Given the description of an element on the screen output the (x, y) to click on. 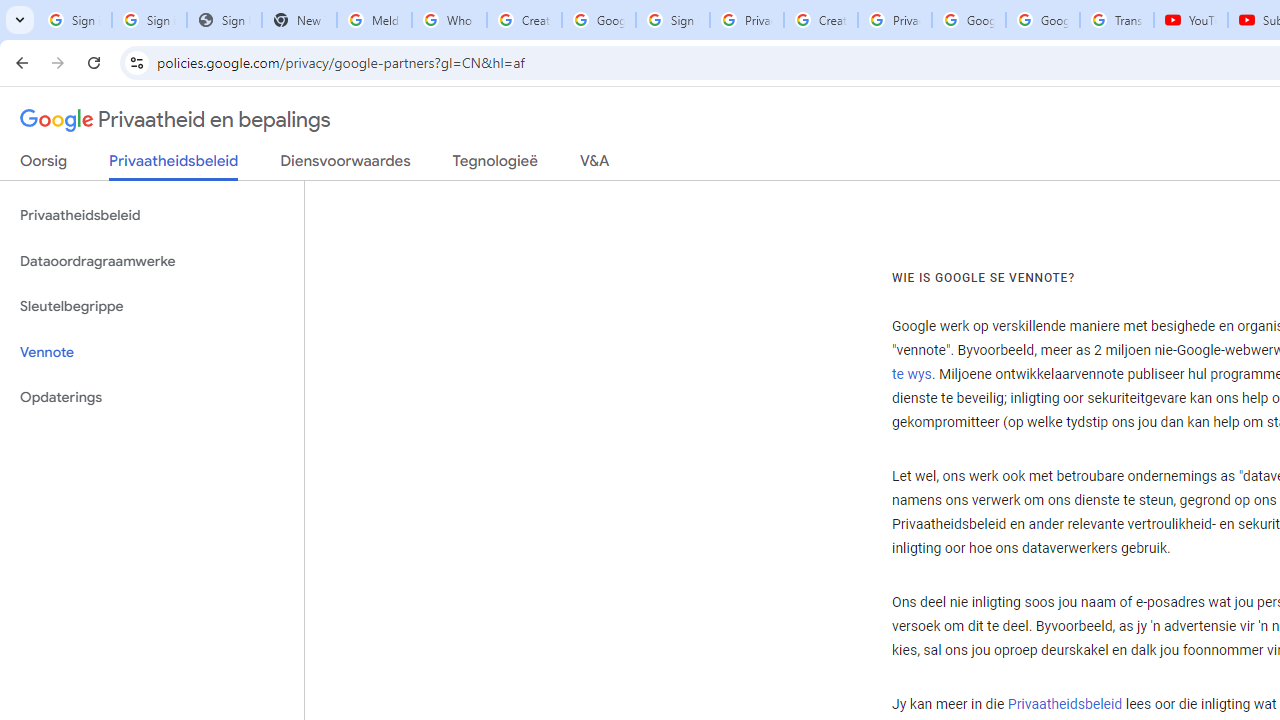
Sign in - Google Accounts (673, 20)
Sign in - Google Accounts (148, 20)
Privaatheid en bepalings (175, 120)
V&A (594, 165)
Sleutelbegrippe (152, 306)
Sign In - USA TODAY (224, 20)
Opdaterings (152, 398)
Create your Google Account (820, 20)
Who is my administrator? - Google Account Help (449, 20)
New Tab (299, 20)
